Given the description of an element on the screen output the (x, y) to click on. 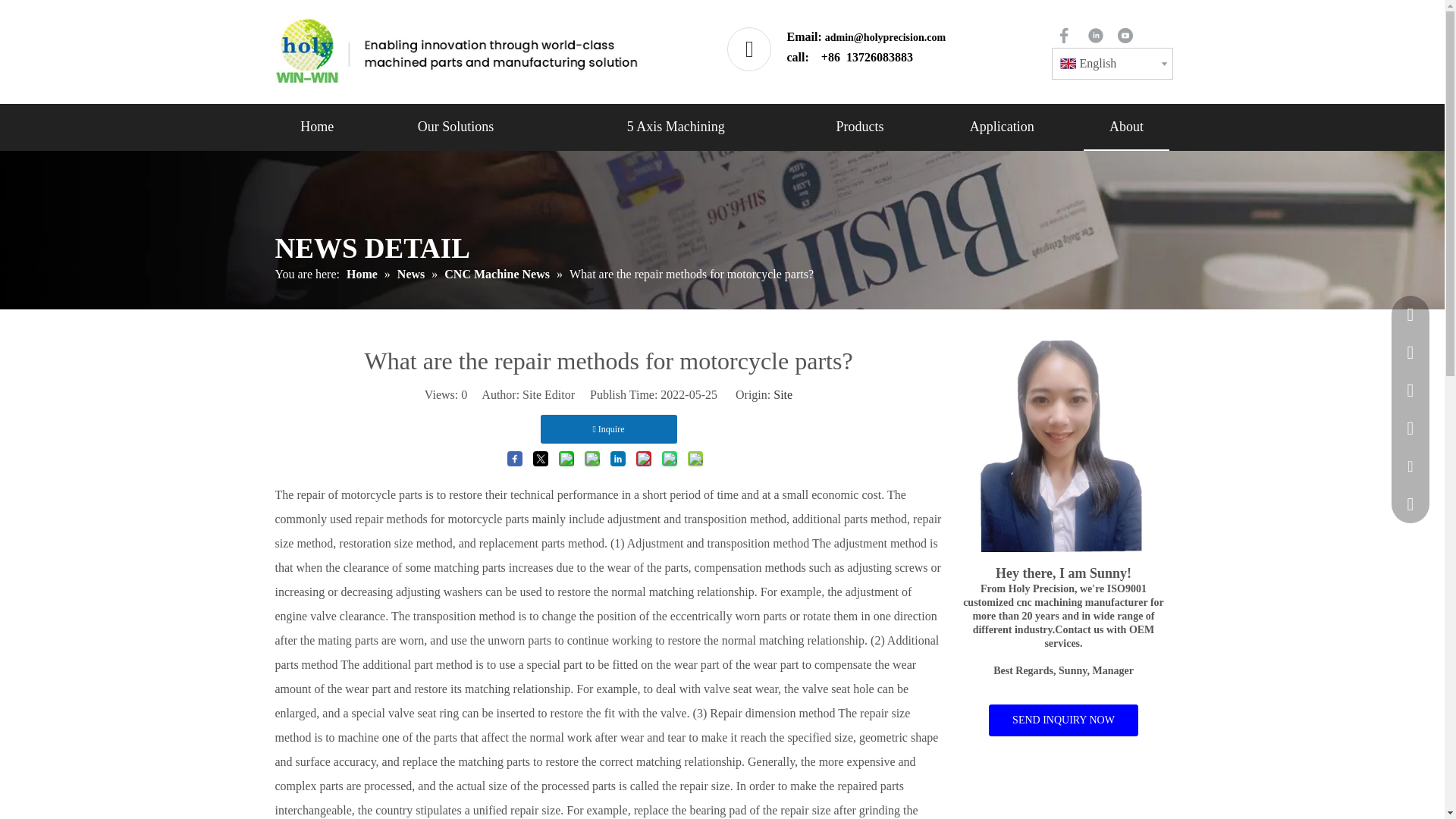
Linkedin (1094, 34)
logo-holy (457, 51)
5 Axis Machining (675, 126)
Products (859, 126)
Our Solutions (455, 126)
Facebook (1063, 34)
Home (316, 126)
Youtube (1125, 34)
